Given the description of an element on the screen output the (x, y) to click on. 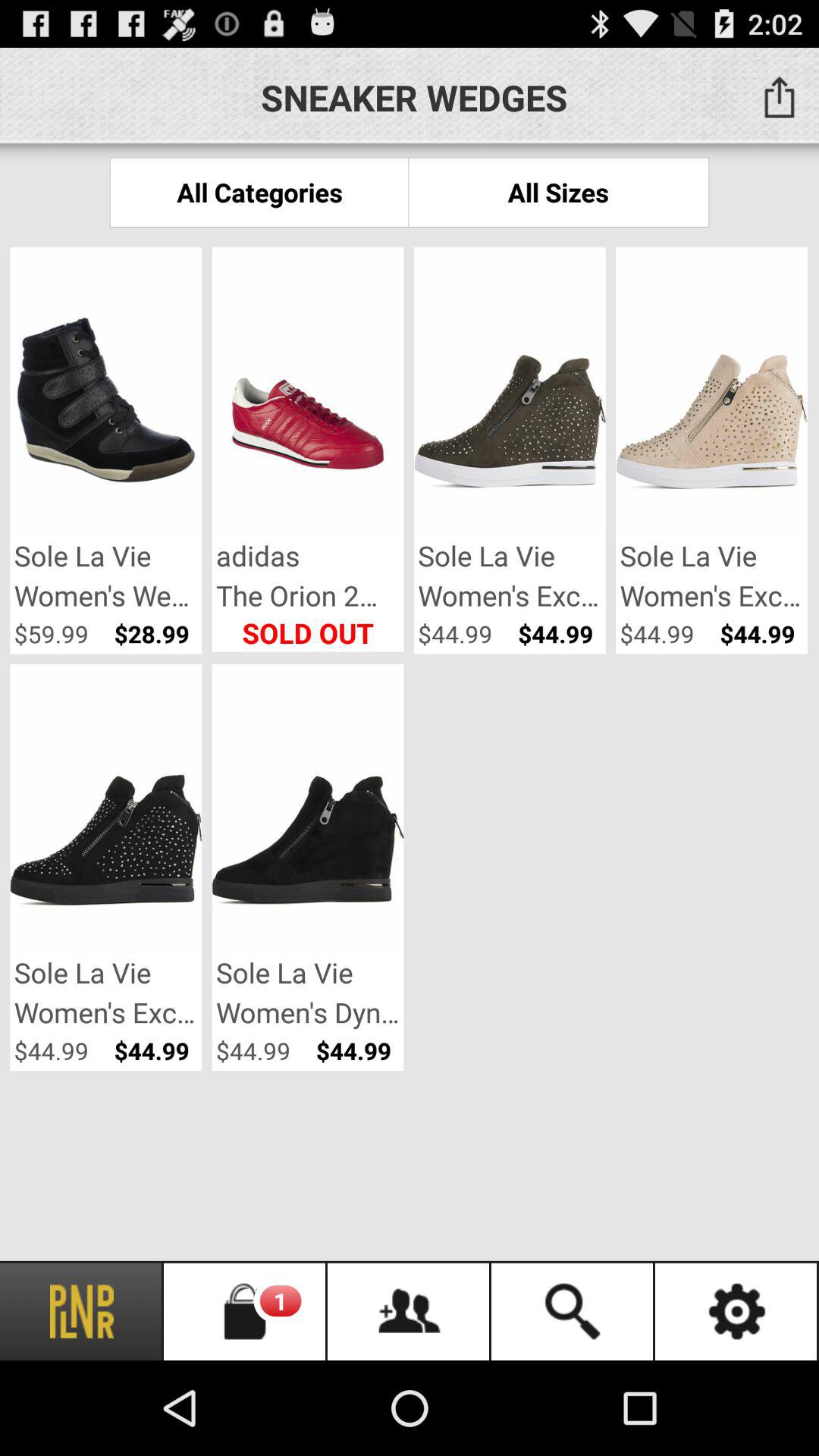
open app below the sneaker wedges item (558, 192)
